Given the description of an element on the screen output the (x, y) to click on. 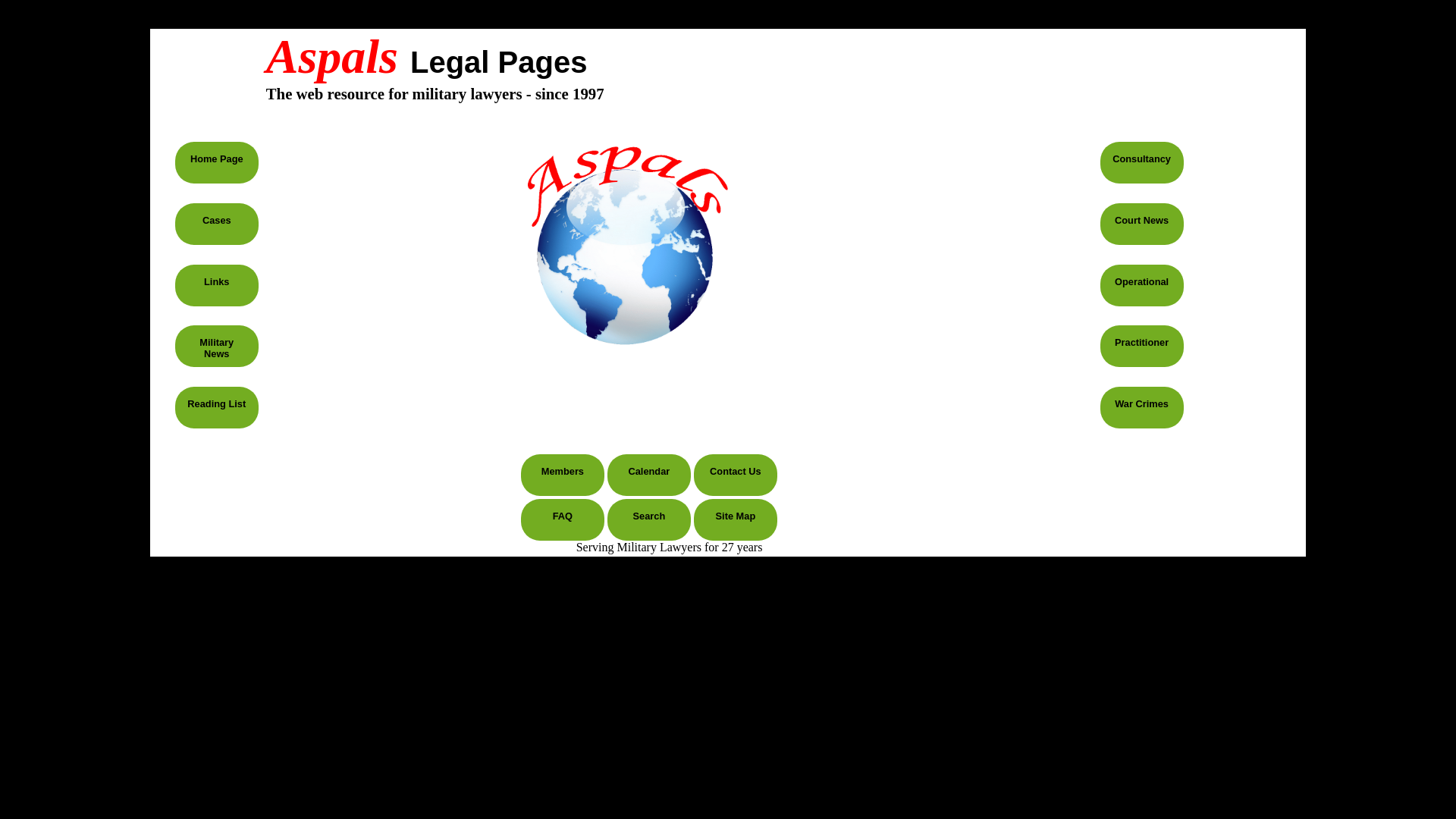
FAQ (562, 515)
Access to the Subscribers Area (562, 471)
Cases (216, 220)
Search (649, 515)
Operational Links (1142, 281)
The Aspals Opening Page and Disclaimers (216, 158)
Updates about the Court Martial (1142, 220)
Events Calendar - Powered by Google (648, 471)
Frequently Asked Questions (562, 515)
Powerful Search Options (649, 515)
A Selection of Human Rights and Military Law Cases (216, 220)
Military News (215, 347)
Selection of Articles for Research (216, 403)
Consultancy (1141, 158)
Links to Useful Sites (215, 281)
